Given the description of an element on the screen output the (x, y) to click on. 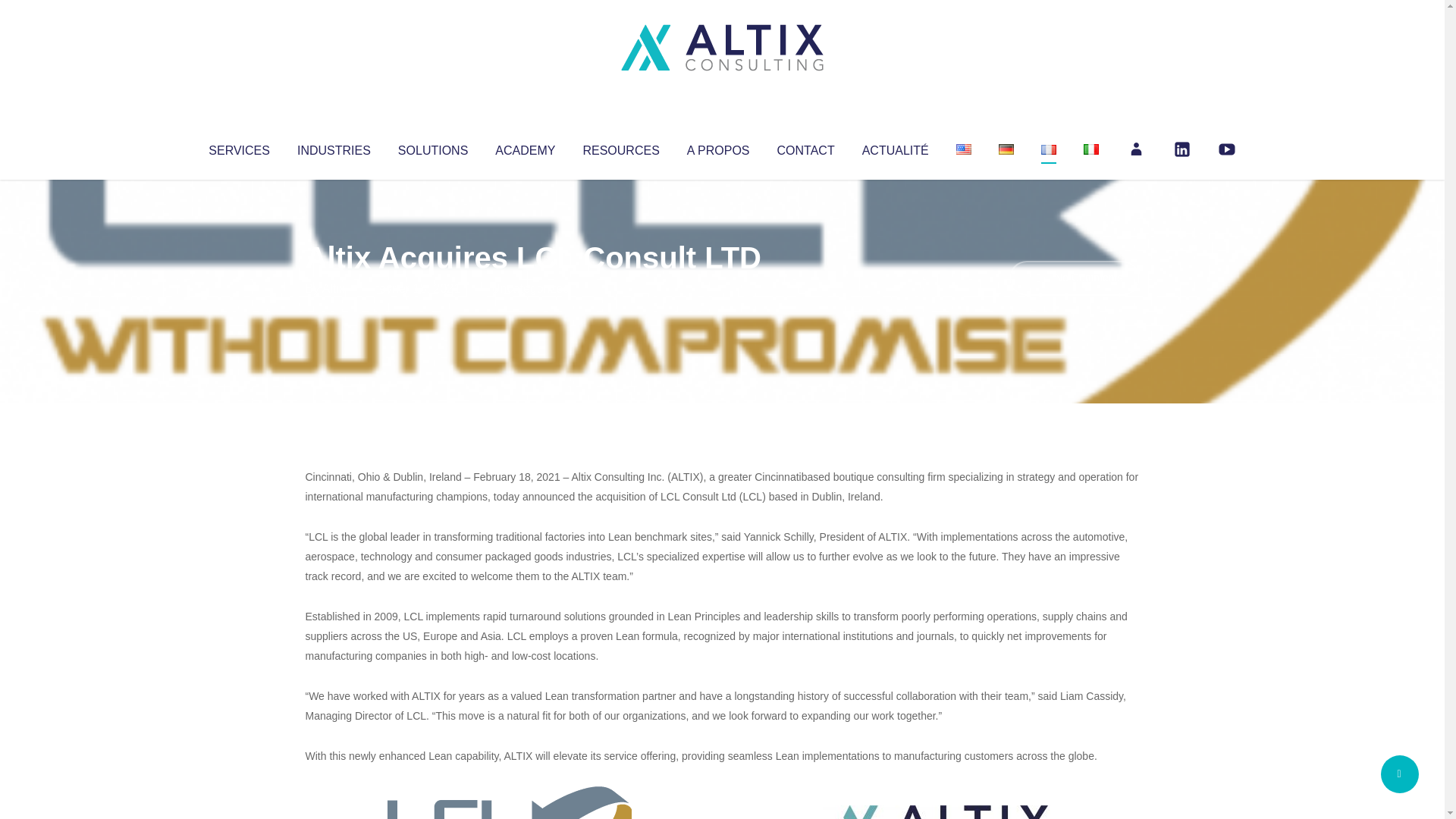
ACADEMY (524, 146)
INDUSTRIES (334, 146)
Altix (333, 287)
A PROPOS (718, 146)
No Comments (1073, 278)
SERVICES (238, 146)
Uncategorized (530, 287)
RESOURCES (620, 146)
Articles par Altix (333, 287)
SOLUTIONS (432, 146)
